Given the description of an element on the screen output the (x, y) to click on. 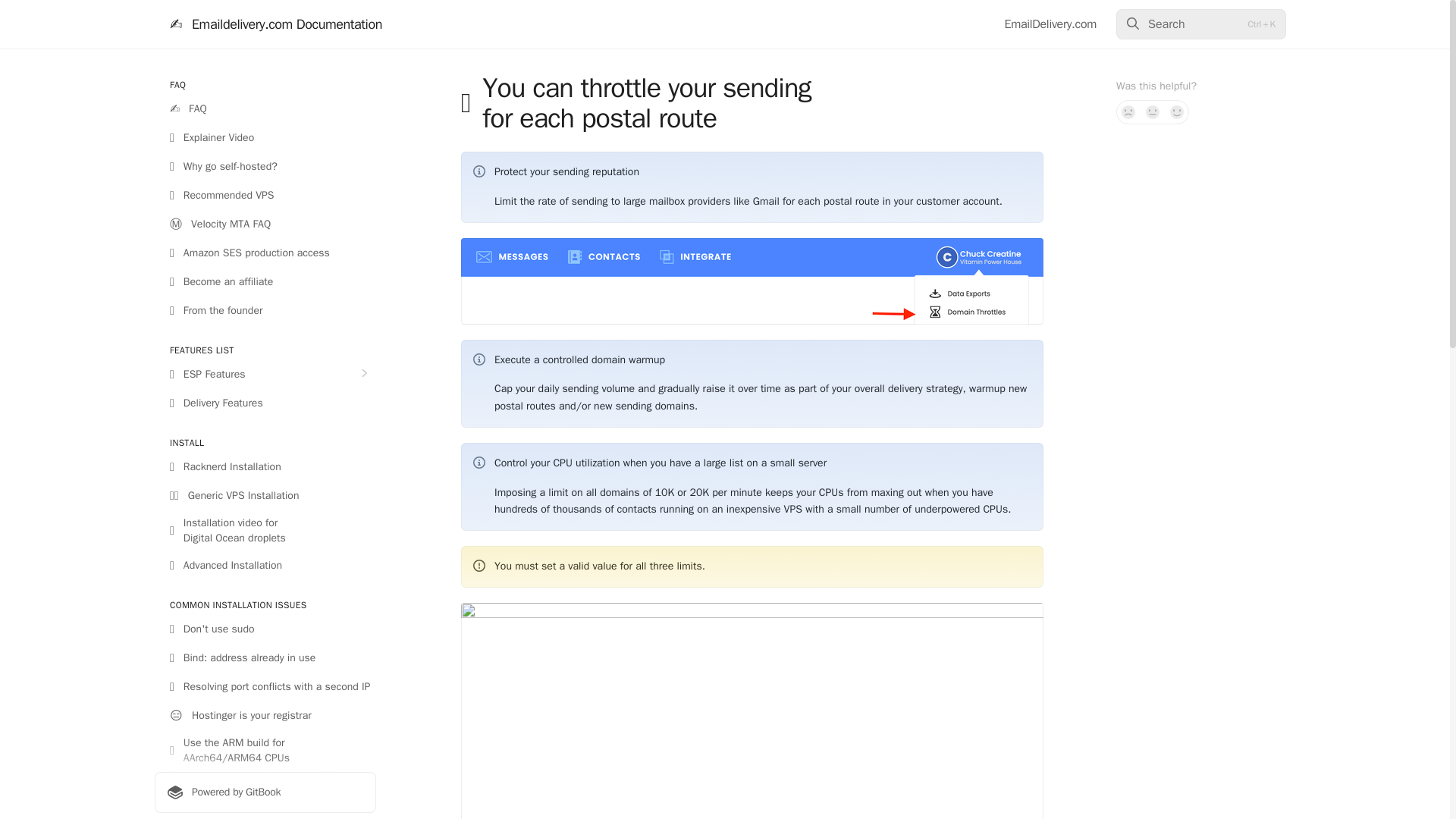
EmailDelivery.com (1050, 24)
No (1128, 111)
Not sure (1152, 111)
Yes, it was! (1176, 111)
